Given the description of an element on the screen output the (x, y) to click on. 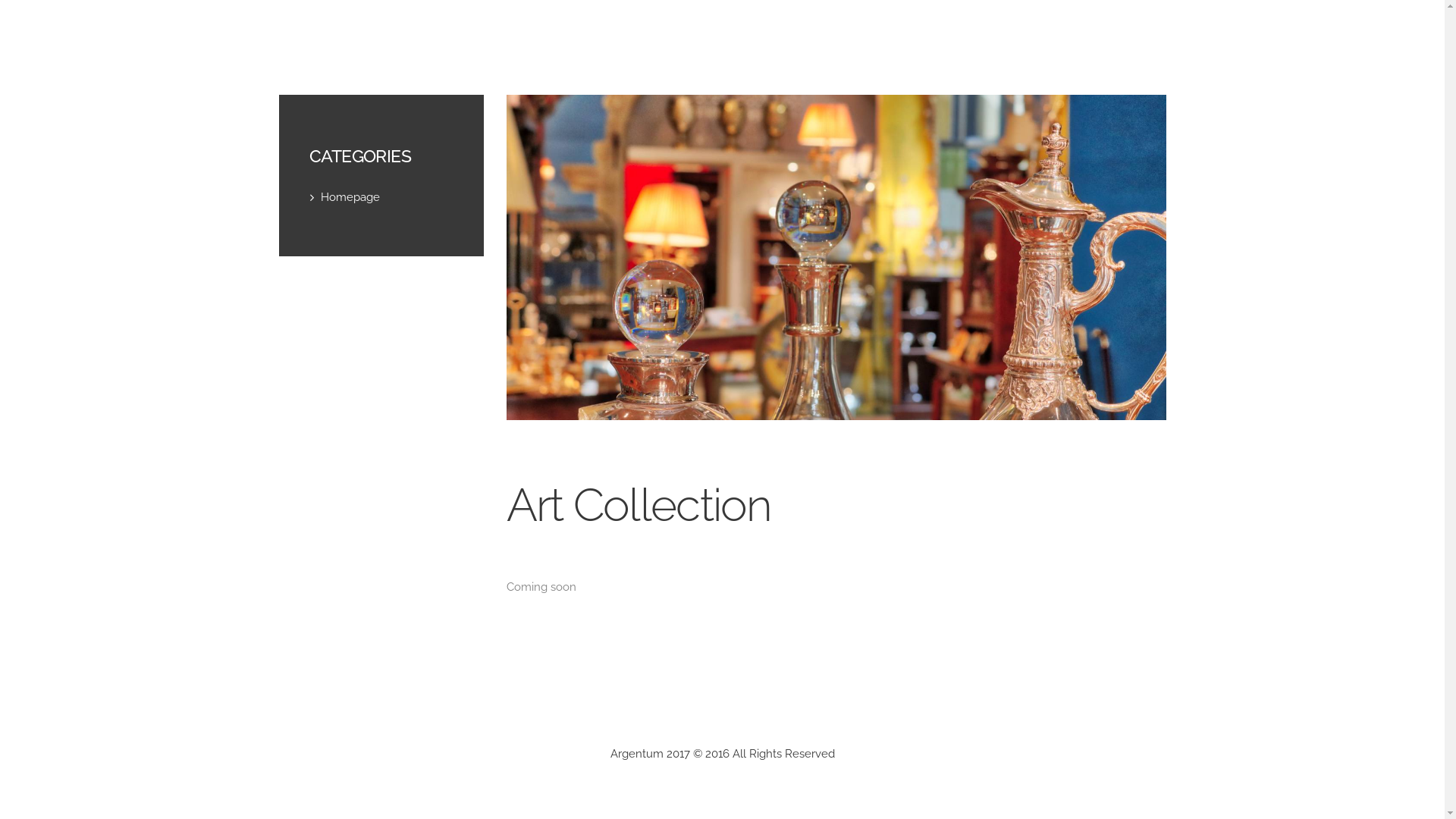
Art Collection Element type: hover (836, 256)
Homepage Element type: text (349, 196)
